Given the description of an element on the screen output the (x, y) to click on. 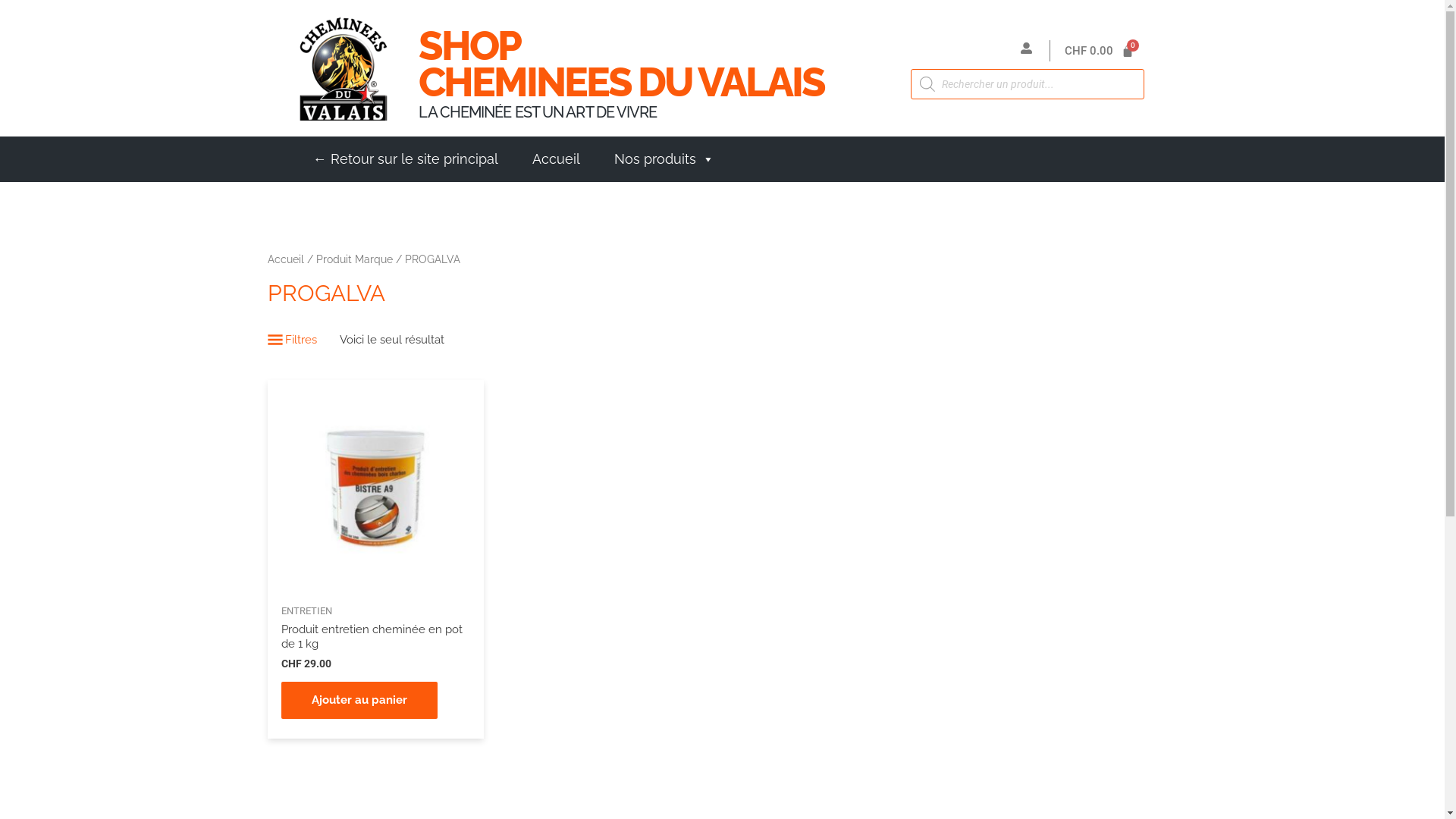
Ajouter au panier Element type: text (358, 700)
Accueil Element type: text (556, 159)
Nos produits Element type: text (664, 159)
CHF 0.00 Element type: text (1099, 51)
Filtres Element type: text (291, 340)
Accueil Element type: text (284, 259)
SHOP
CHEMINEES DU VALAIS Element type: text (621, 63)
